Given the description of an element on the screen output the (x, y) to click on. 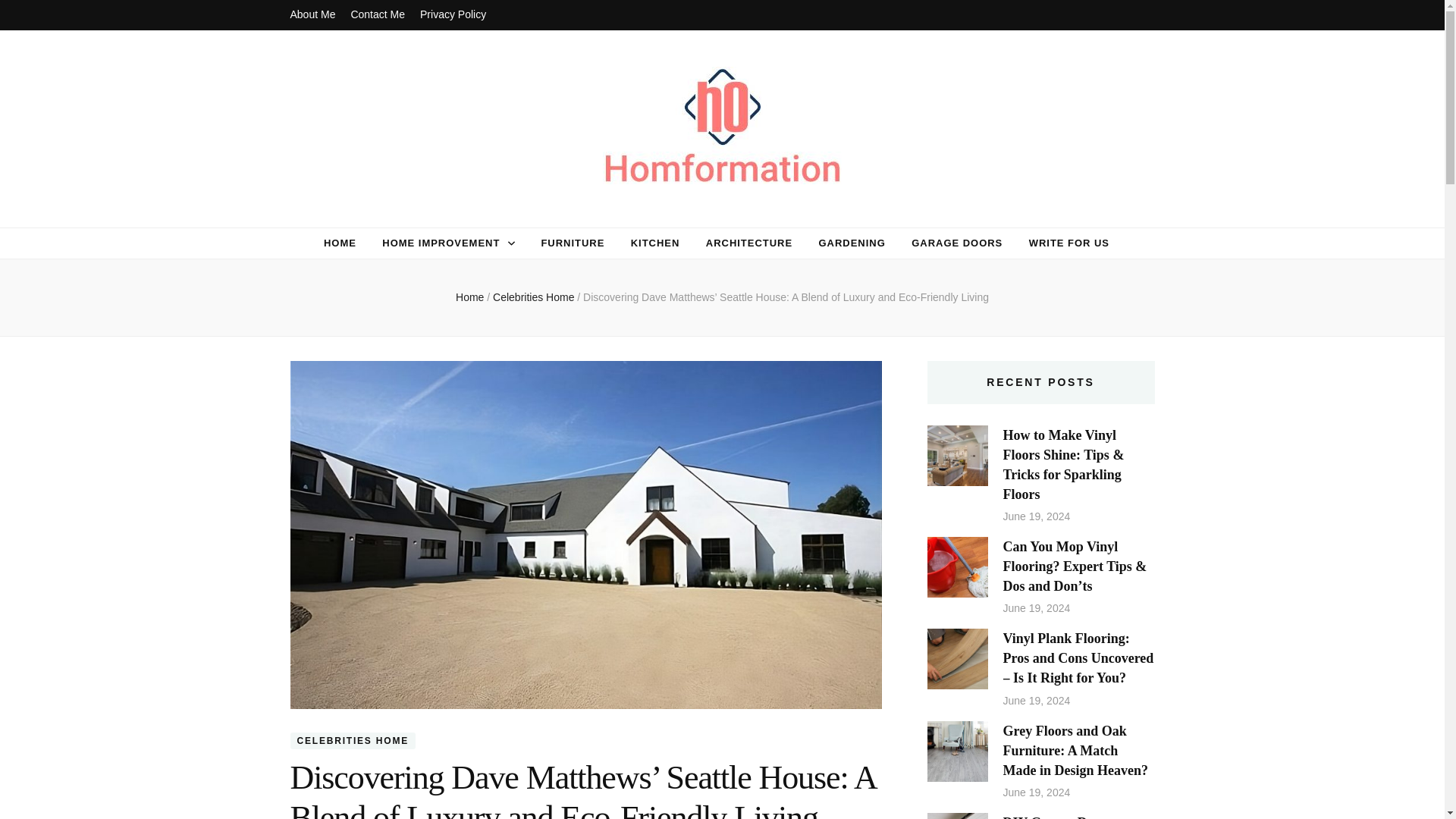
ARCHITECTURE (749, 243)
HOME (339, 243)
About Me (311, 15)
Privacy Policy (453, 15)
Celebrities Home (534, 297)
KITCHEN (654, 243)
CELEBRITIES HOME (351, 740)
HOME IMPROVEMENT (440, 243)
GARDENING (851, 243)
FURNITURE (572, 243)
